Given the description of an element on the screen output the (x, y) to click on. 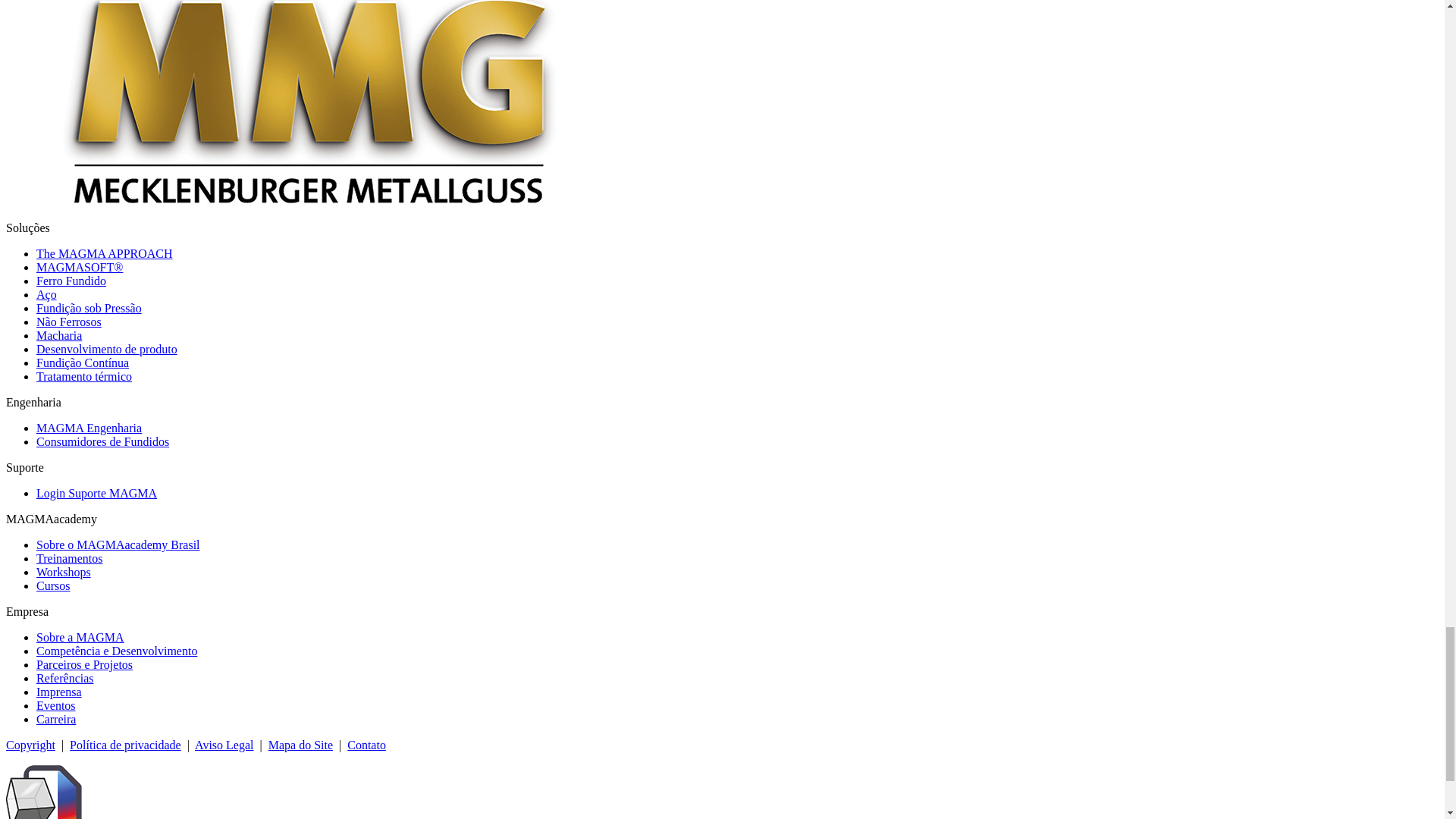
Footer-Link MAGMAinteract  (43, 791)
